Given the description of an element on the screen output the (x, y) to click on. 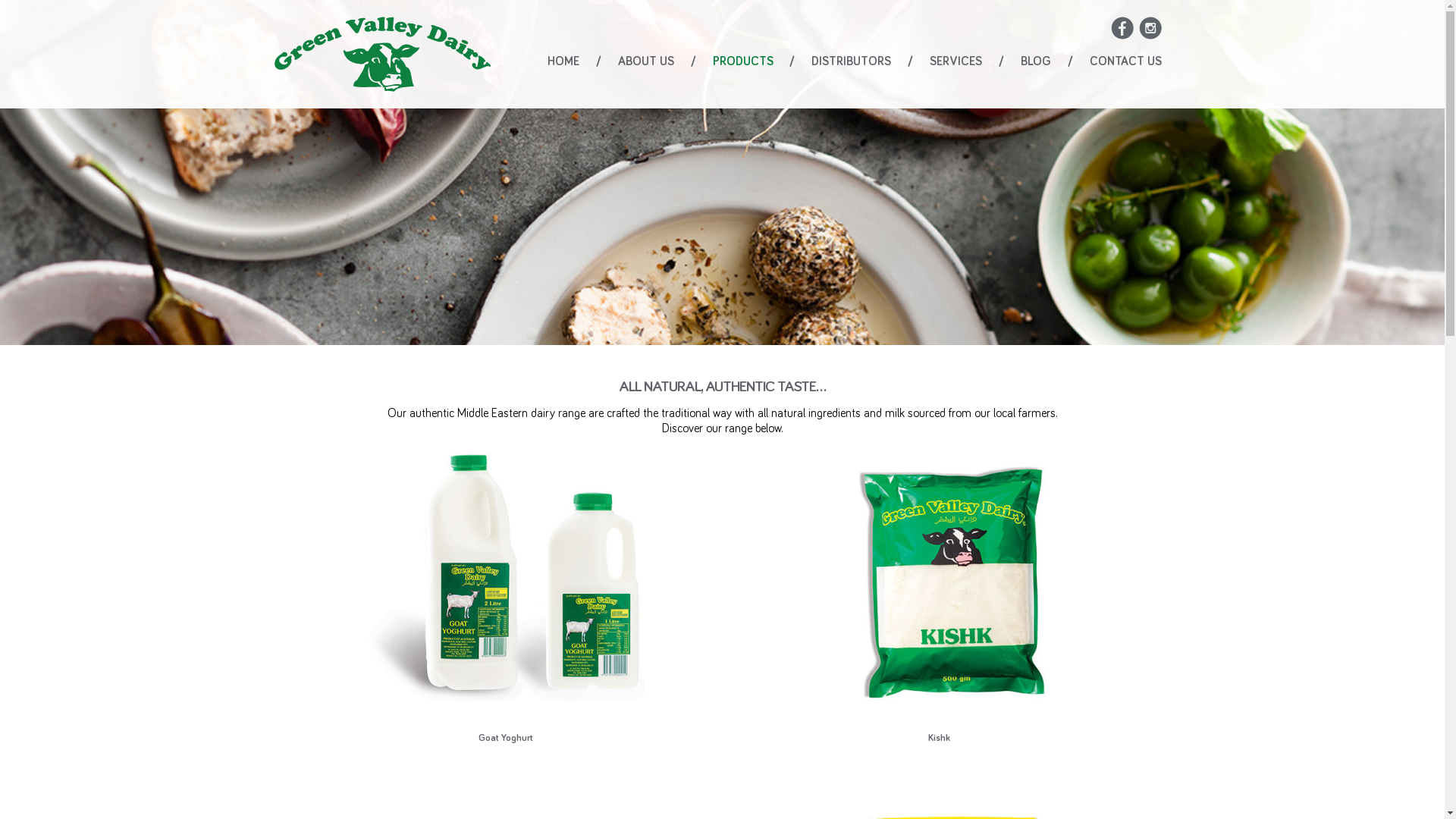
/ Element type: text (910, 61)
ABOUT US Element type: text (646, 61)
/ Element type: text (1070, 61)
PRODUCTS Element type: text (742, 61)
/ Element type: text (1001, 61)
Goat Yoghurt Element type: text (505, 594)
/ Element type: text (598, 61)
/ Element type: text (693, 61)
/ Element type: text (791, 61)
DISTRIBUTORS Element type: text (851, 61)
BLOG Element type: text (1035, 61)
CONTACT US Element type: text (1125, 61)
SERVICES Element type: text (955, 61)
HOME Element type: text (563, 61)
Kishk Element type: text (938, 594)
